Given the description of an element on the screen output the (x, y) to click on. 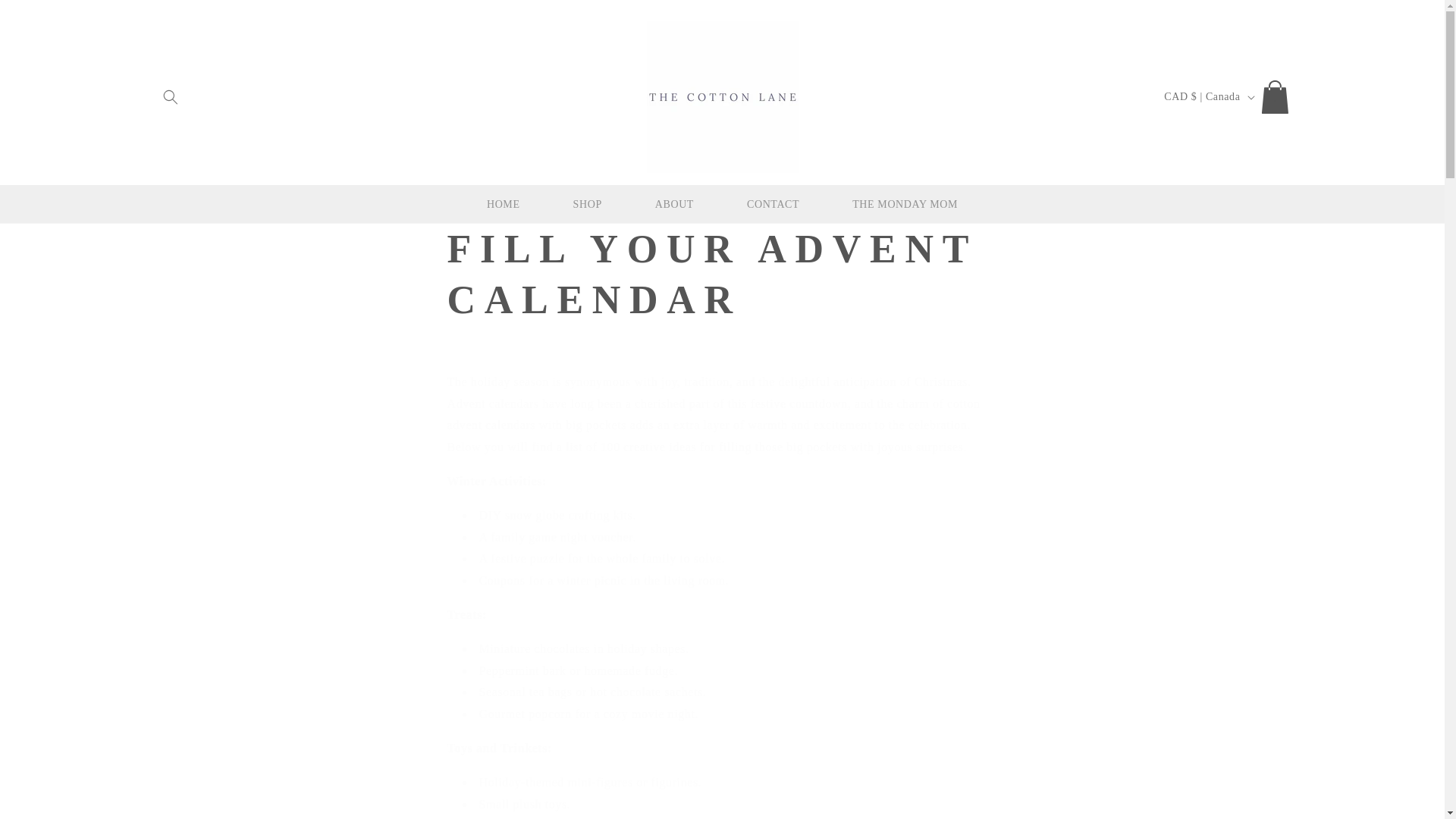
FILL YOUR ADVENT CALENDAR (721, 274)
THE MONDAY MOM (904, 204)
0 (1277, 96)
SKIP TO CONTENT (45, 16)
ABOUT (674, 204)
0 (1277, 96)
CONTACT (772, 204)
HOME (503, 204)
SHOP (587, 204)
